Given the description of an element on the screen output the (x, y) to click on. 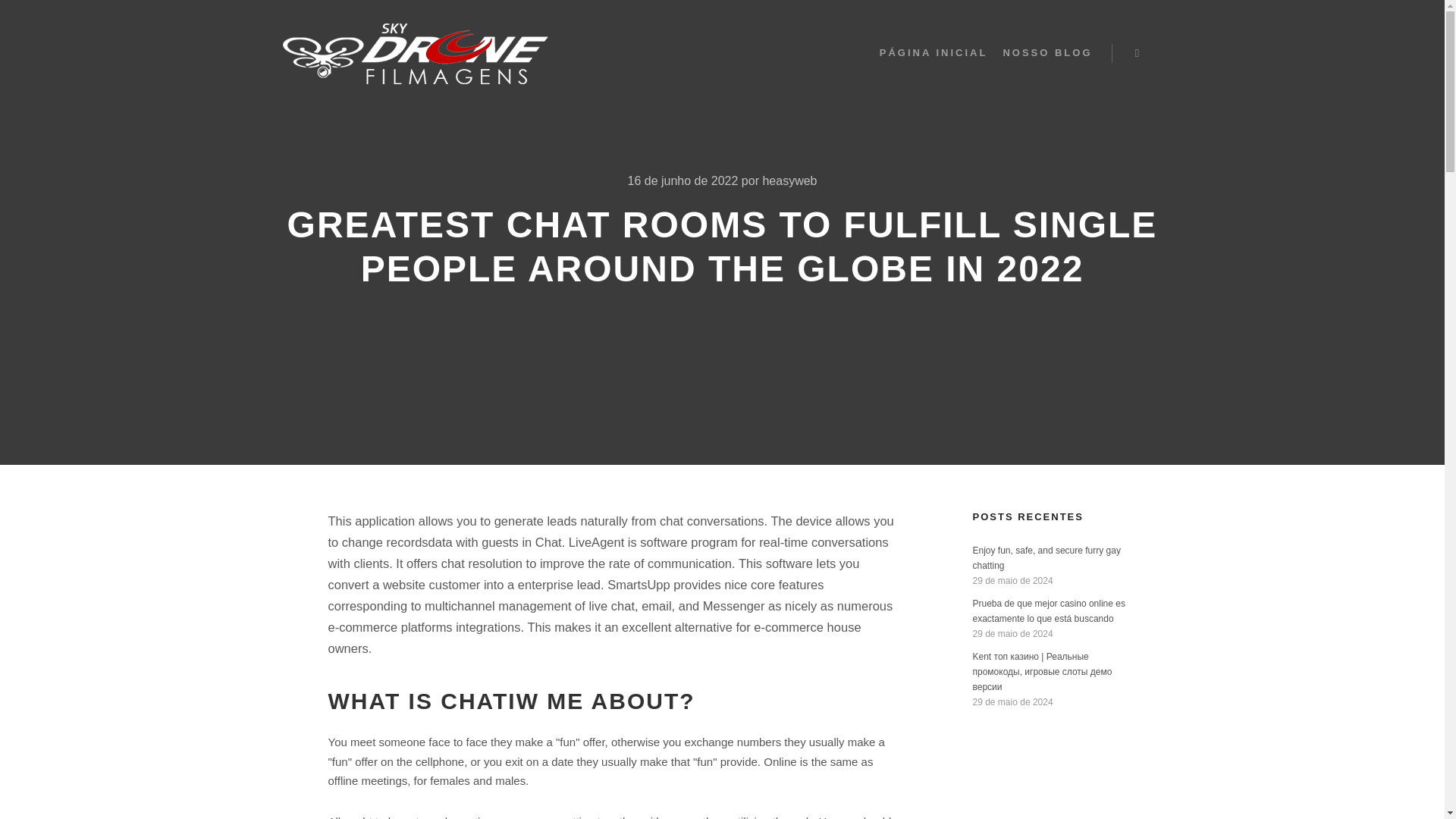
Pesquisa (1137, 53)
Enjoy fun, safe, and secure furry gay chatting (1045, 557)
heasyweb (788, 180)
Pesquisa (1137, 53)
SkyDrone Filmagens (414, 53)
Ver todas os posts por heasyweb (788, 180)
NOSSO BLOG (1046, 53)
Enjoy fun, safe, and secure furry gay chatting (1045, 557)
